Given the description of an element on the screen output the (x, y) to click on. 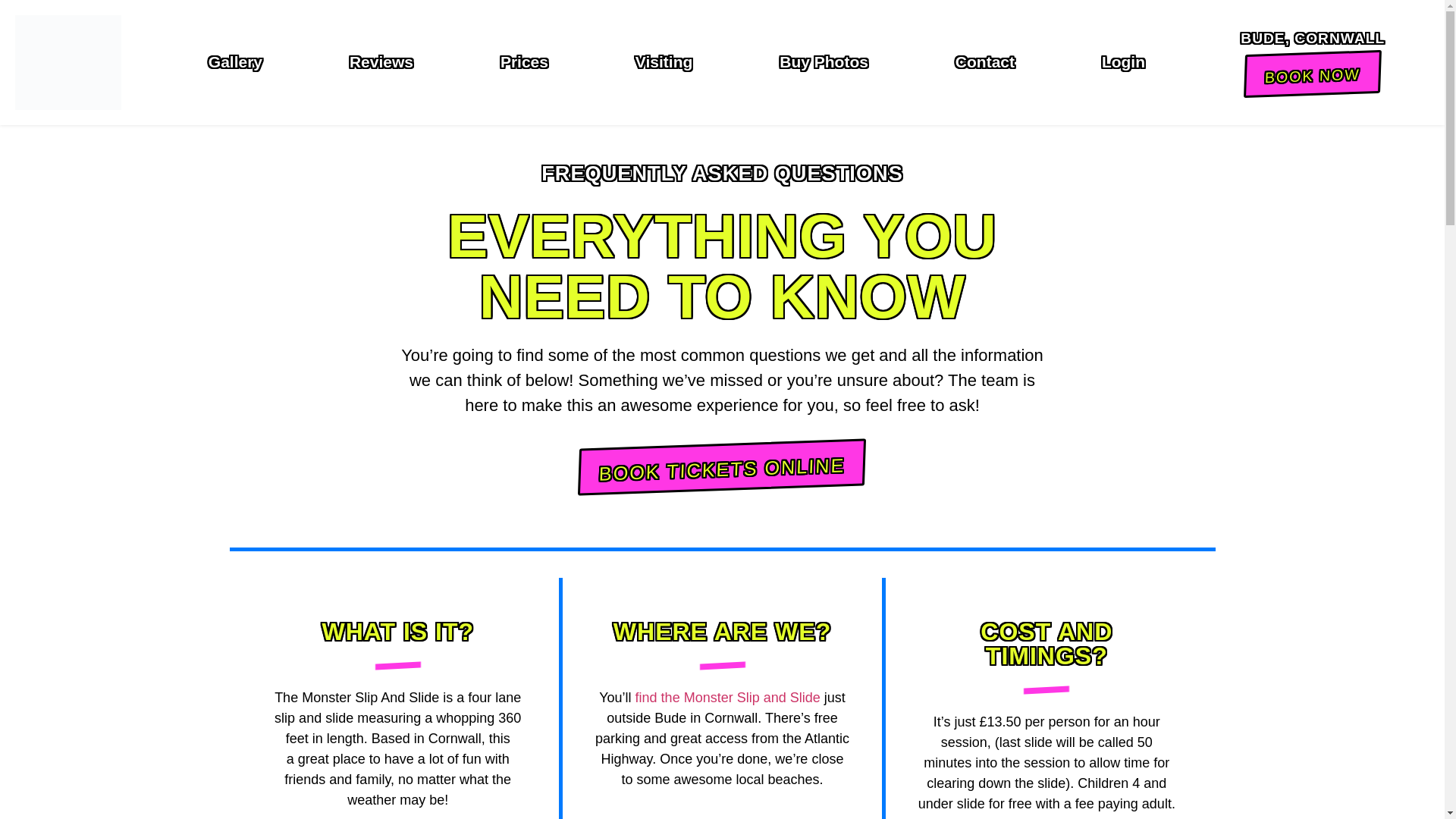
Reviews (381, 62)
Buy Photos (824, 62)
Contact (984, 62)
BOOK NOW (1312, 74)
Login (1123, 62)
Visiting (663, 62)
Prices (524, 62)
Gallery (234, 62)
